Given the description of an element on the screen output the (x, y) to click on. 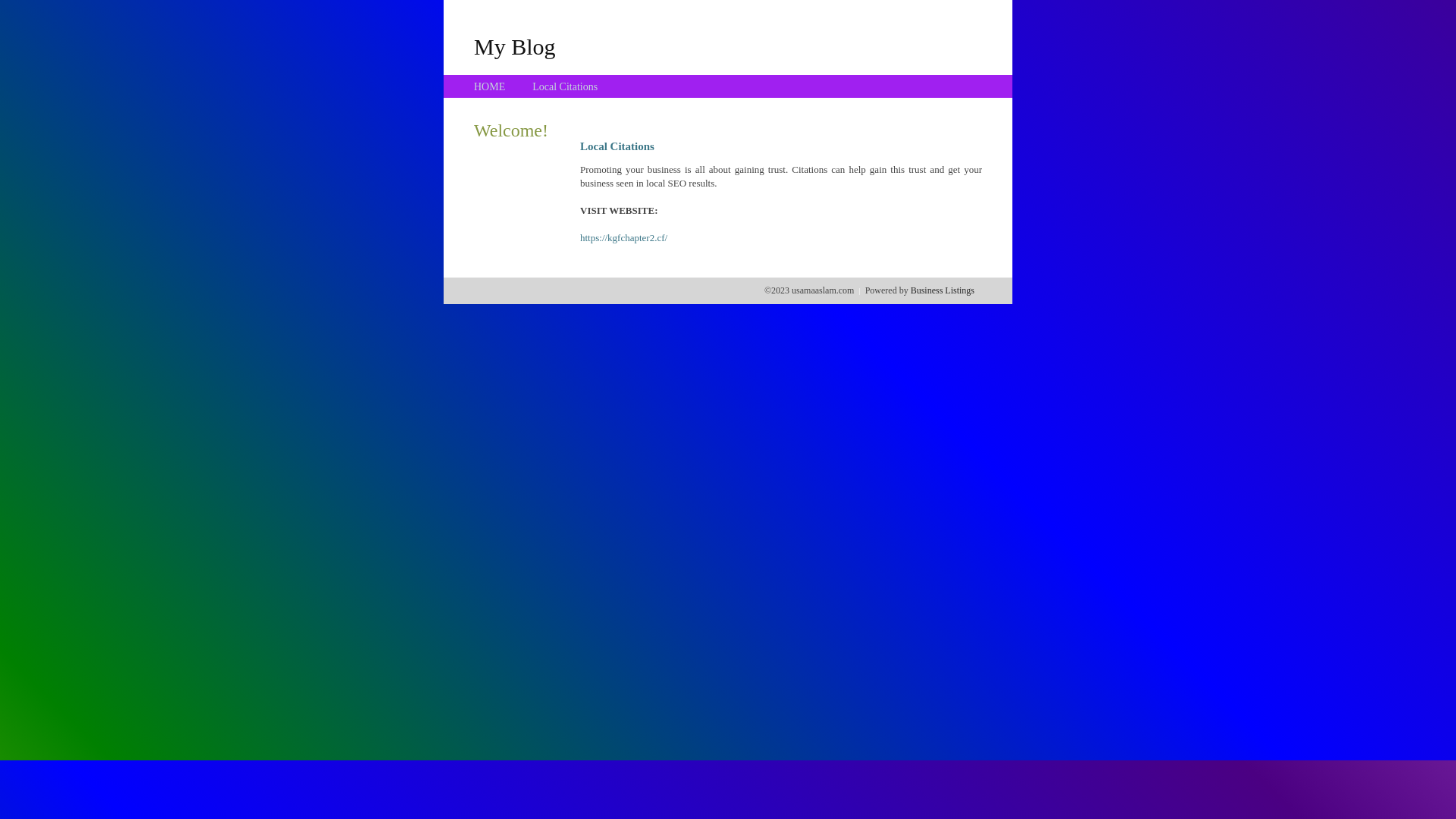
Local Citations Element type: text (564, 86)
https://kgfchapter2.cf/ Element type: text (623, 237)
HOME Element type: text (489, 86)
My Blog Element type: text (514, 46)
Business Listings Element type: text (942, 290)
